Given the description of an element on the screen output the (x, y) to click on. 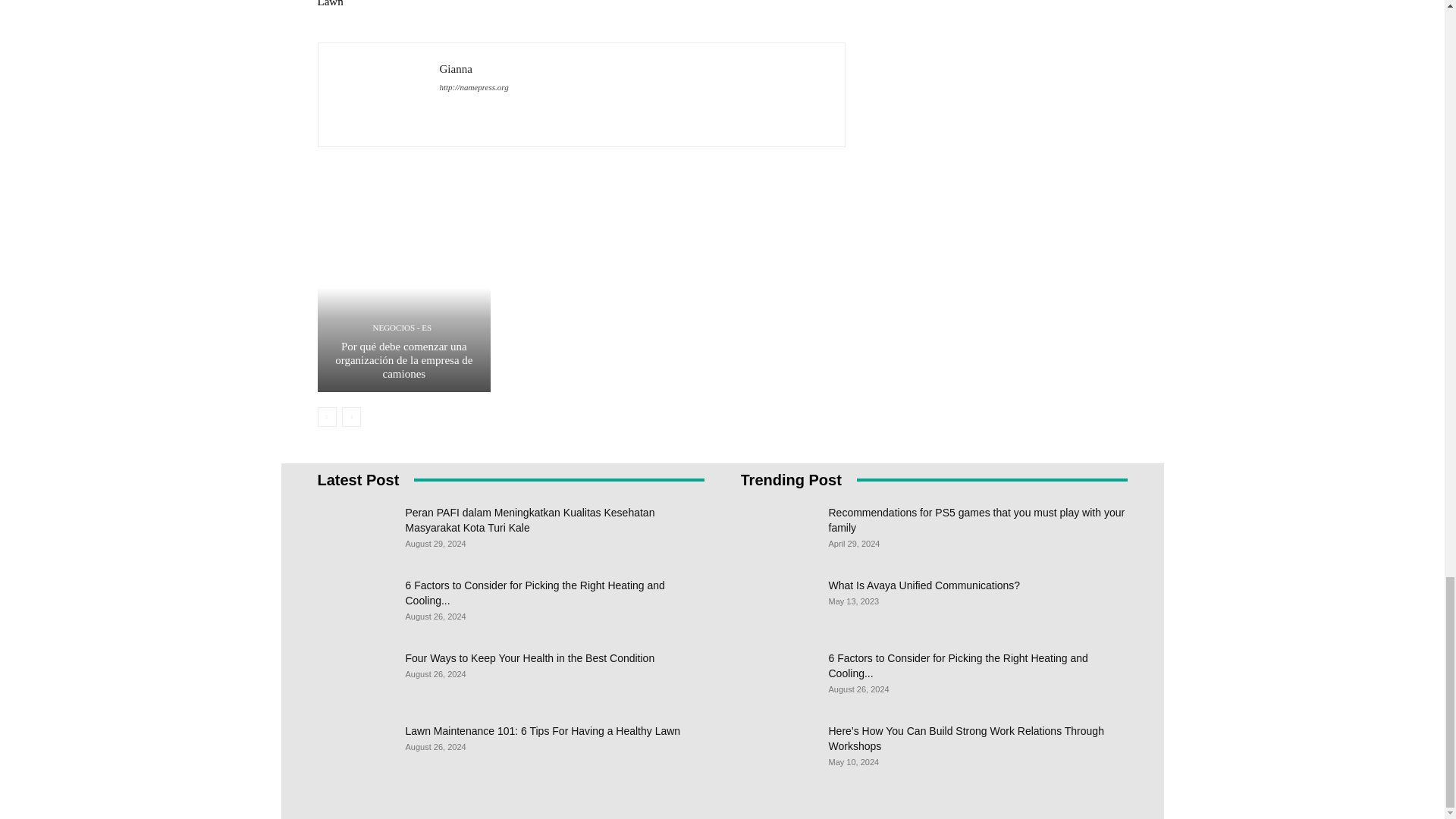
Gianna (379, 94)
